Given the description of an element on the screen output the (x, y) to click on. 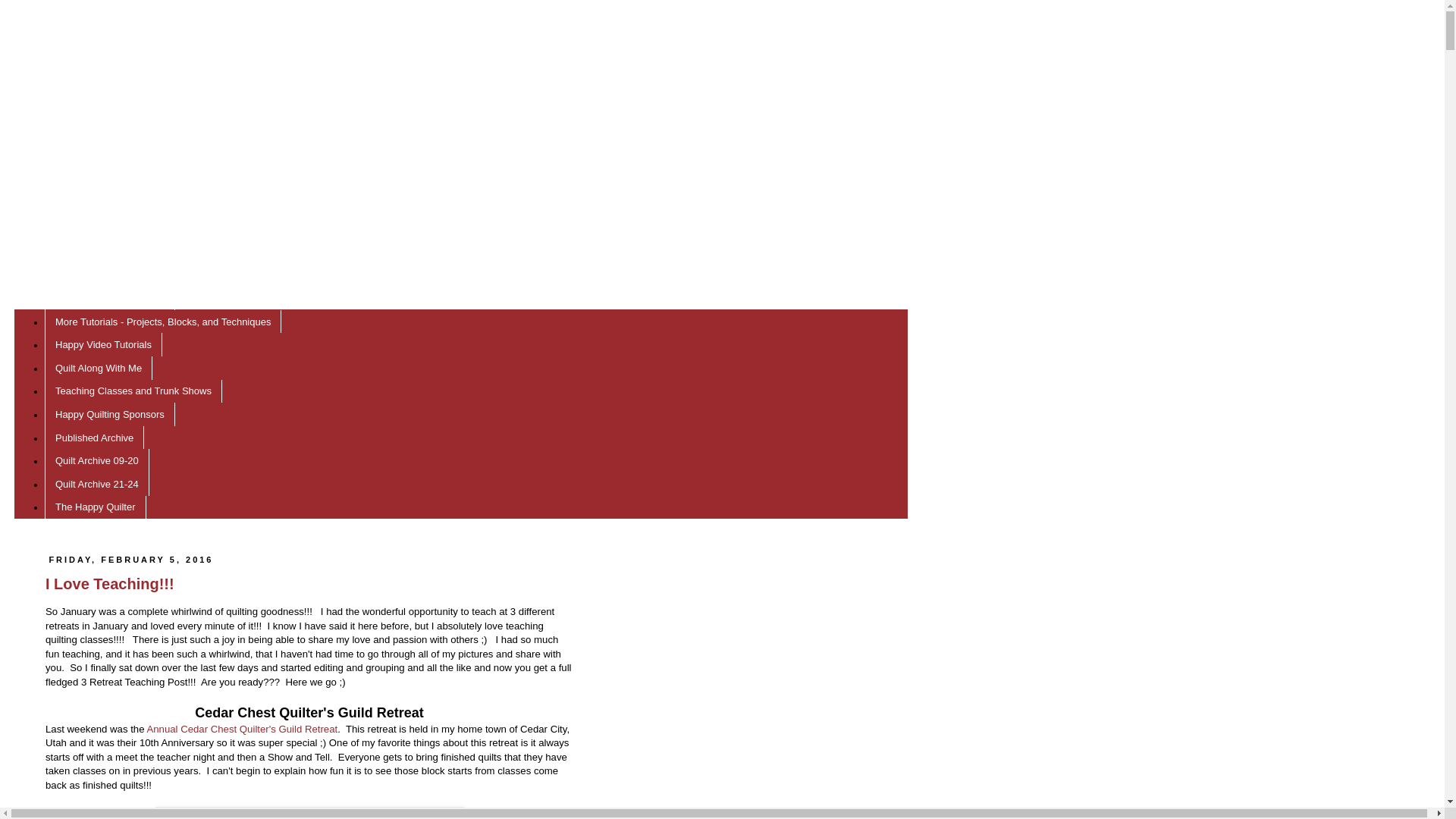
Published Archive (94, 437)
Annual Cedar Chest Quilter's Guild Retreat (242, 728)
The Happy Quilter (96, 507)
More Tutorials - Projects, Blocks, and Techniques (163, 321)
Happy Video Tutorials (103, 344)
Happy Quilting Sponsors (109, 413)
Quilt Archive 21-24 (97, 484)
Quilt Along With Me (98, 368)
Sew Many Quilt Tutorials (109, 298)
Quilt Archive 09-20 (97, 460)
Teaching Classes and Trunk Shows (133, 391)
I Love Teaching!!! (109, 583)
Free Downloadable PDF Patterns (128, 275)
